Given the description of an element on the screen output the (x, y) to click on. 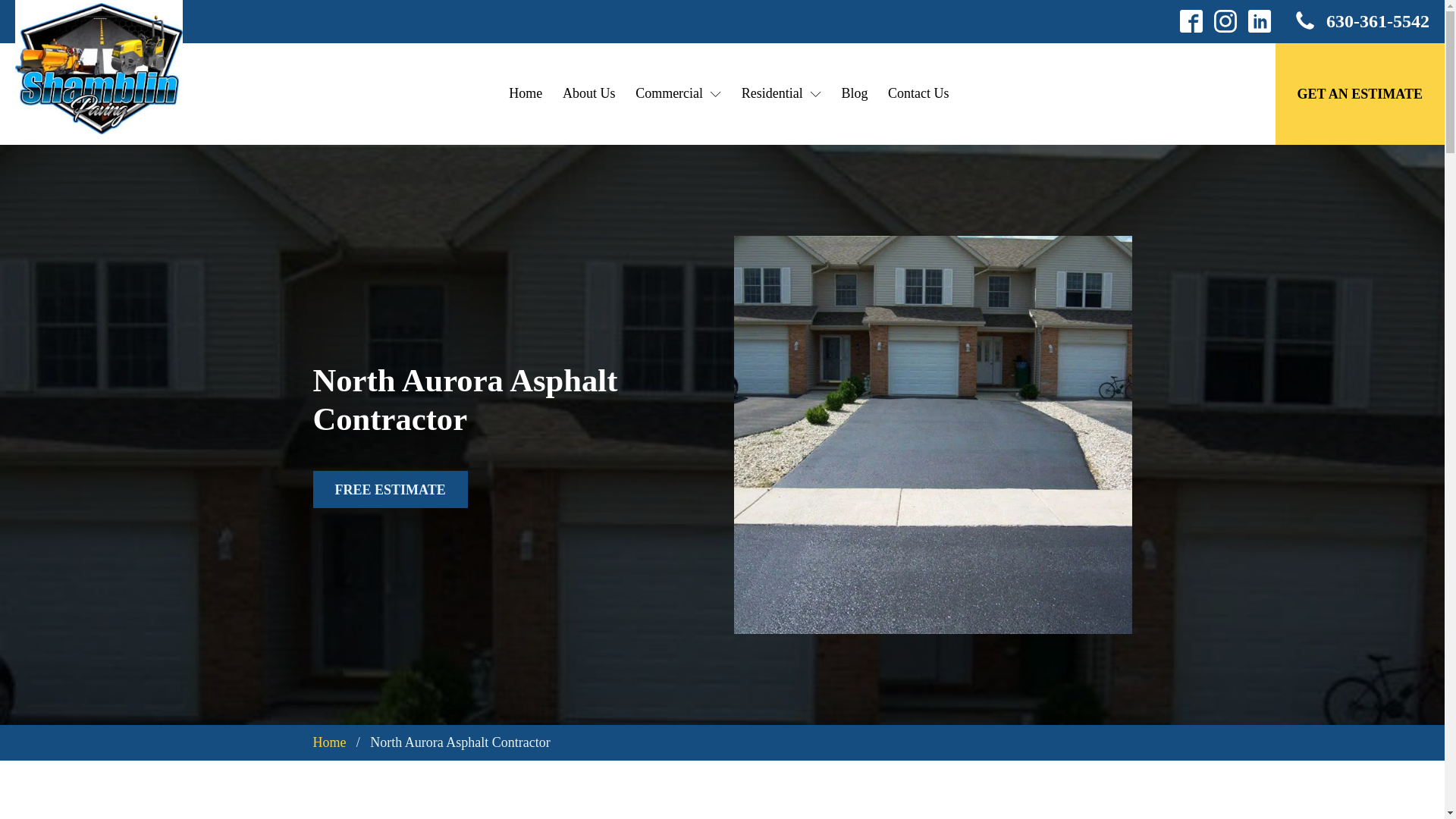
About Us (589, 93)
FREE ESTIMATE (390, 488)
Blog (854, 93)
Contact Us (918, 93)
630-361-5542 (1361, 20)
Commercial (679, 93)
Home (329, 742)
Home (526, 93)
Residential (780, 93)
